Given the description of an element on the screen output the (x, y) to click on. 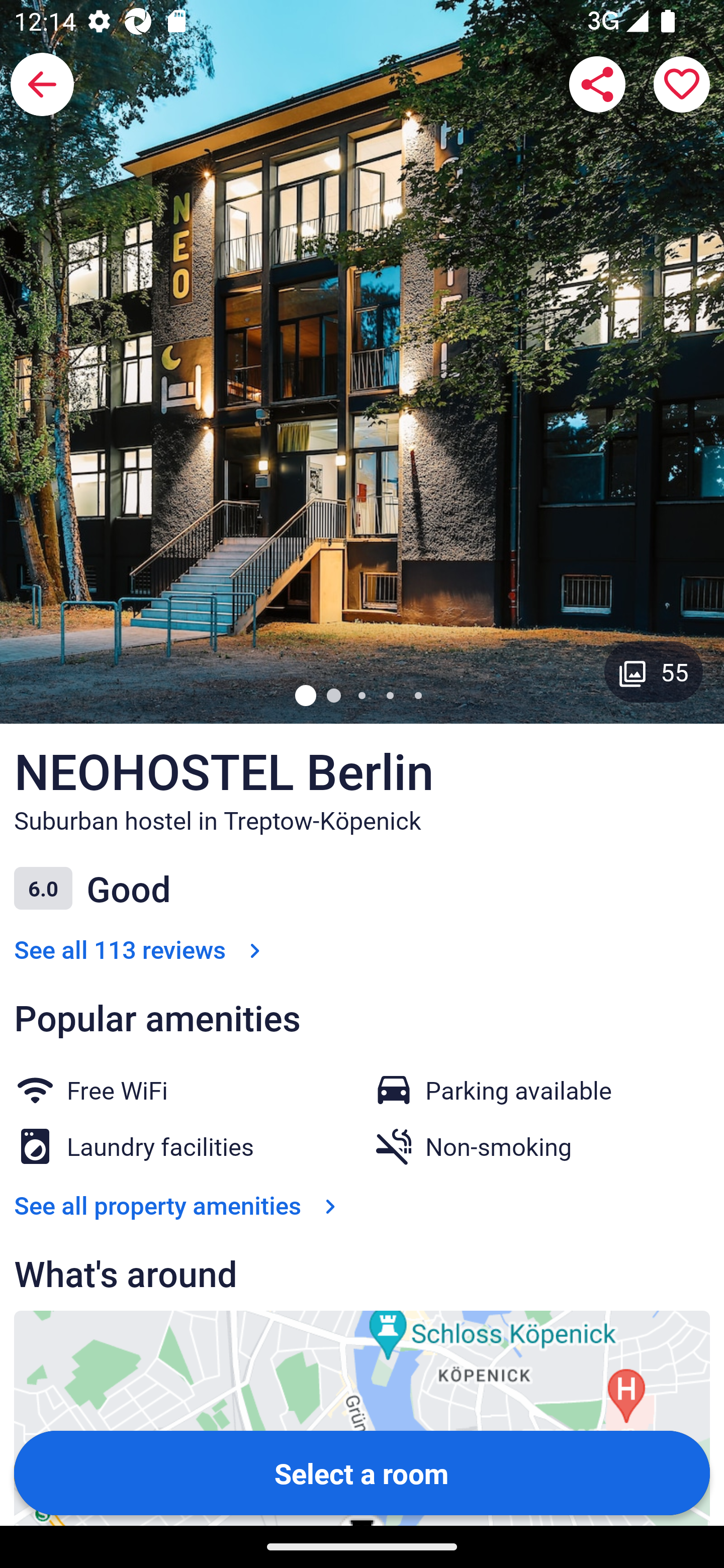
Back (42, 84)
Save property to a trip (681, 84)
Share NEOHOSTEL Berlin (597, 84)
Gallery button with 55 images (653, 671)
See all 113 reviews See all 113 reviews Link (140, 948)
See all property amenities (178, 1205)
Select a room Button Select a room (361, 1472)
